Given the description of an element on the screen output the (x, y) to click on. 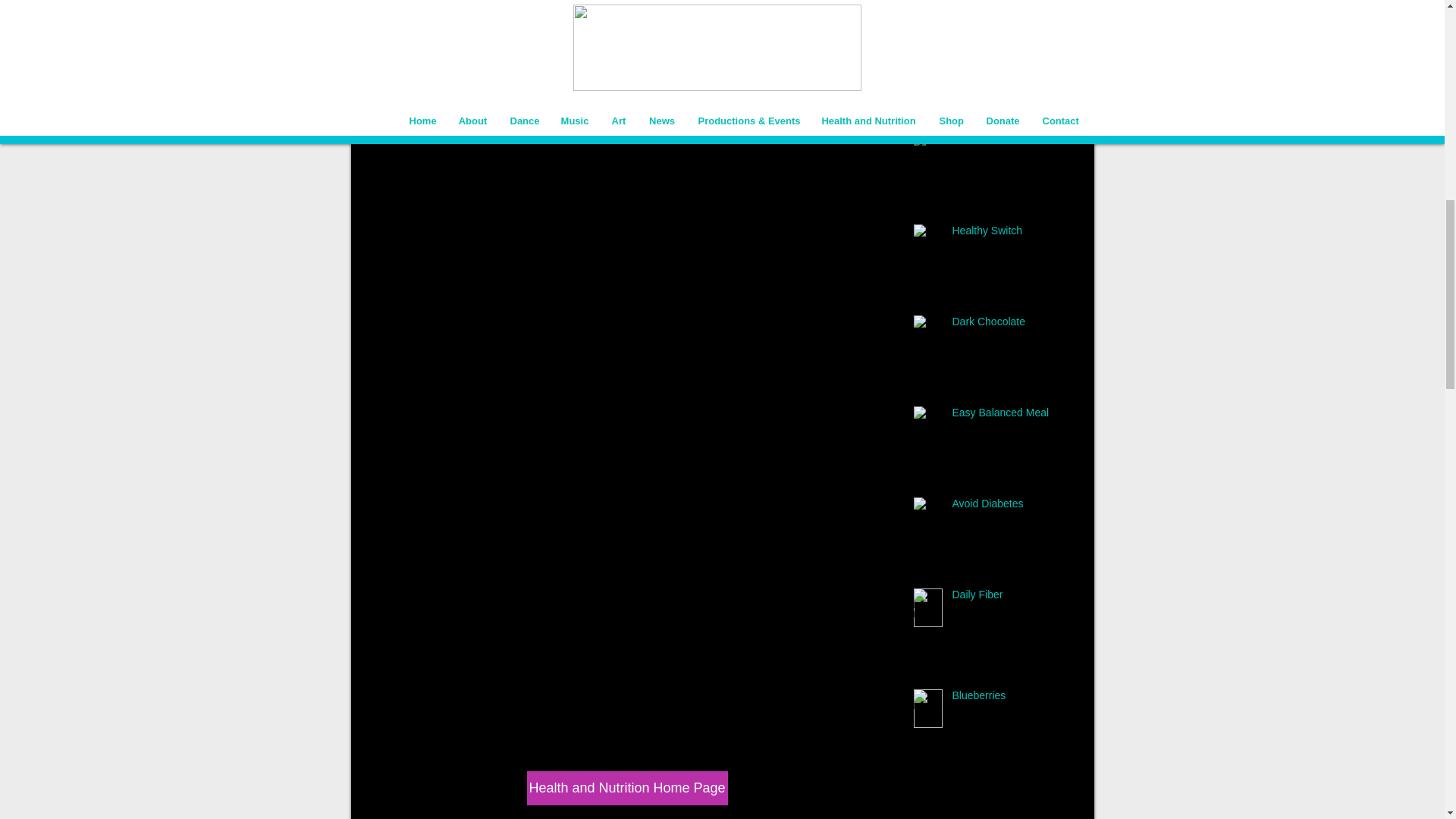
Conventional or Organic (1006, 58)
Post not marked as liked (832, 32)
Support your Immunity with High Vitamin C Foods (1006, 0)
